Given the description of an element on the screen output the (x, y) to click on. 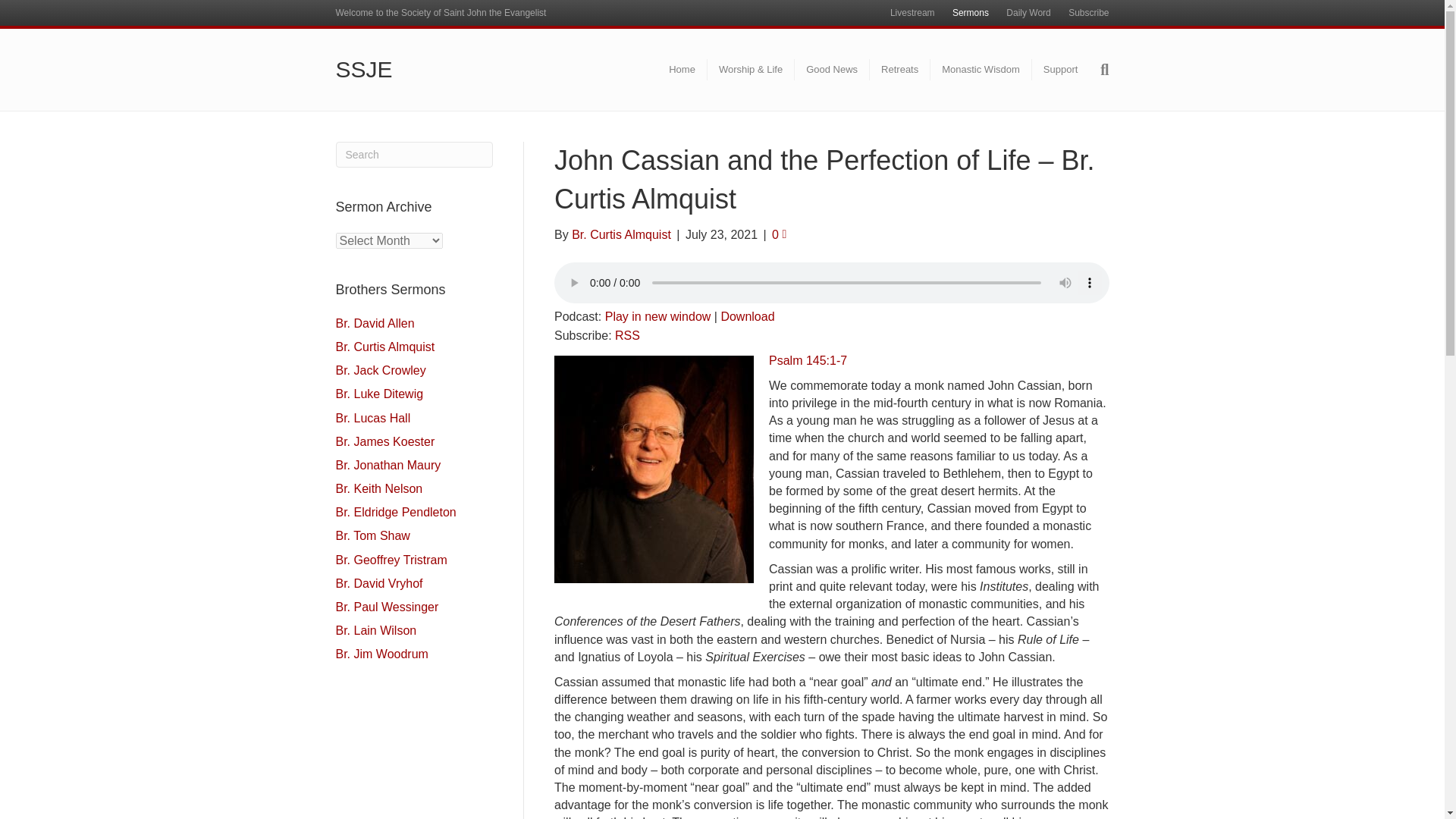
Download (747, 316)
Daily Word (1028, 13)
Monastic Wisdom (981, 69)
Home (682, 69)
Good News (831, 69)
Retreats (899, 69)
Livestream (912, 13)
Sermons (969, 13)
Subscribe (1088, 13)
Type and press Enter to search. (413, 154)
